Given the description of an element on the screen output the (x, y) to click on. 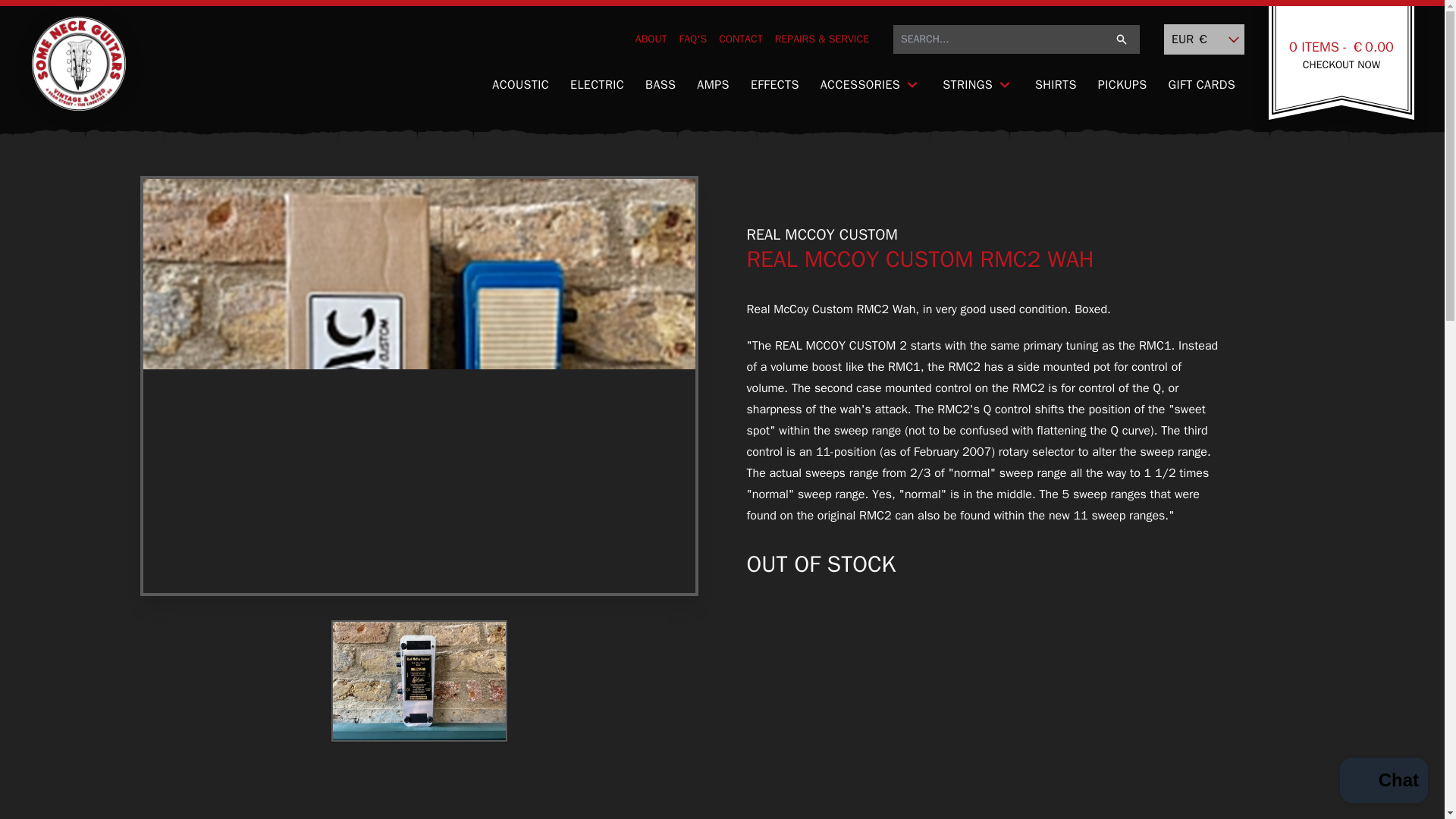
STRINGS (978, 84)
Search (1120, 39)
Shopify online store chat (1383, 781)
FAQ'S (693, 38)
AMPS (712, 84)
BASS (660, 84)
PICKUPS (1122, 84)
ACOUSTIC (520, 84)
GIFT CARDS (1201, 84)
EFFECTS (774, 84)
